Given the description of an element on the screen output the (x, y) to click on. 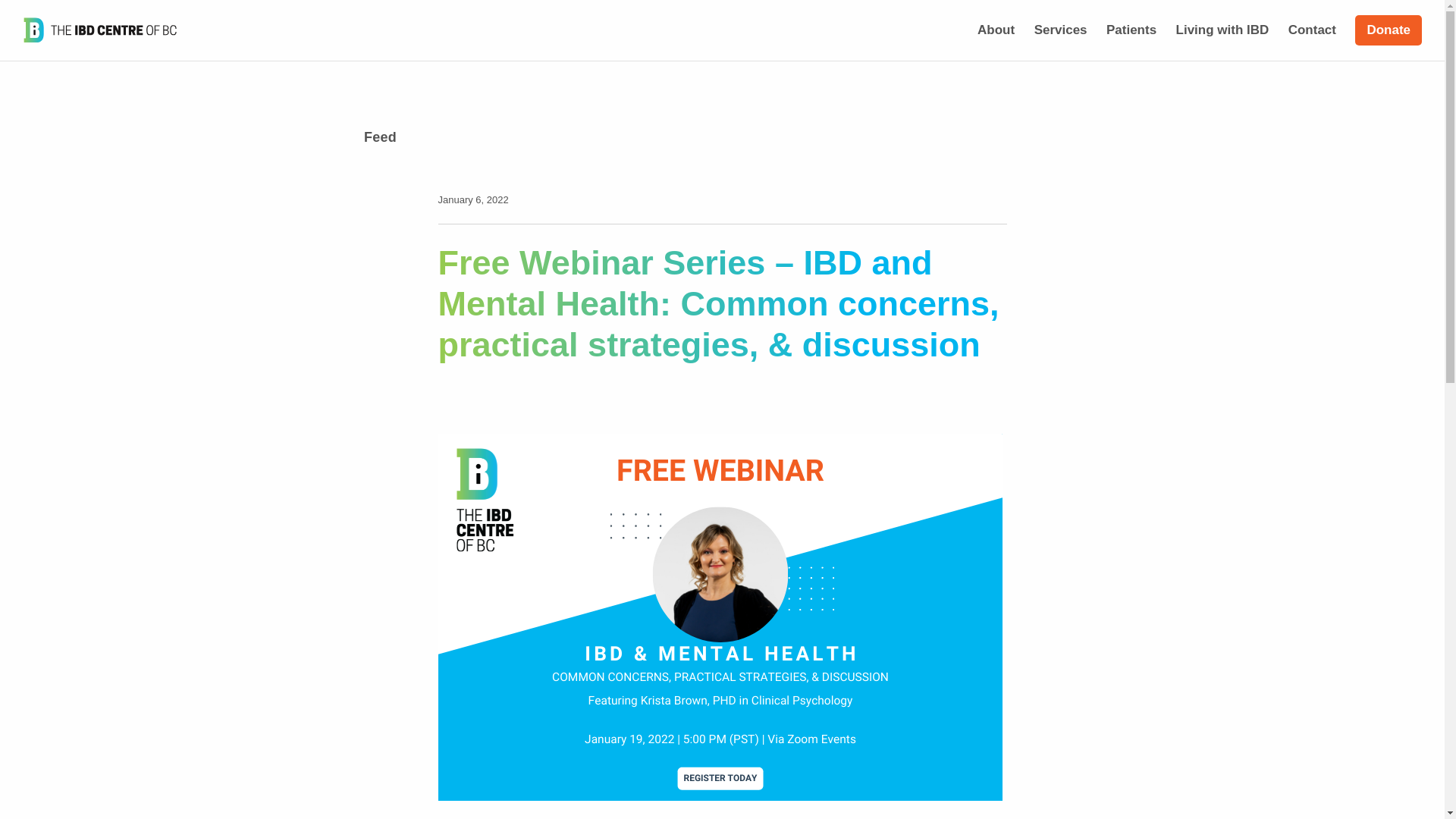
Services (1060, 30)
The Inflammatory Bowel Disease Centre of BC (100, 30)
Contact (1312, 30)
The IBD Centre of BC (100, 30)
About (995, 30)
Patients (1131, 30)
Donate (1388, 30)
Living with IBD (1222, 30)
